Given the description of an element on the screen output the (x, y) to click on. 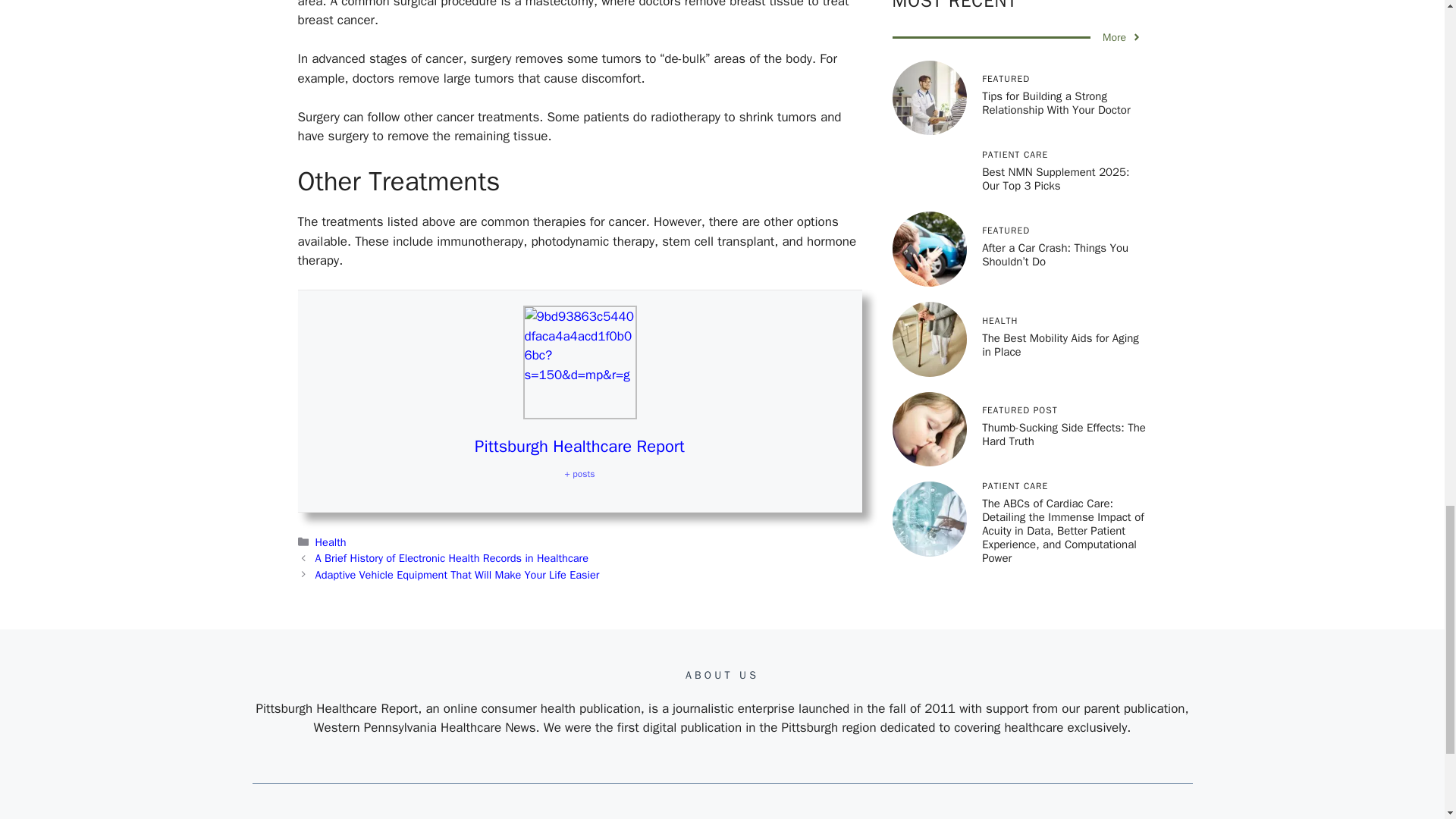
Adaptive Vehicle Equipment That Will Make Your Life Easier (457, 574)
A Brief History of Electronic Health Records in Healthcare (451, 558)
What Are the Types of Cancer Treatments? 1 (579, 362)
Pittsburgh Healthcare Report (579, 446)
Health (330, 541)
